Given the description of an element on the screen output the (x, y) to click on. 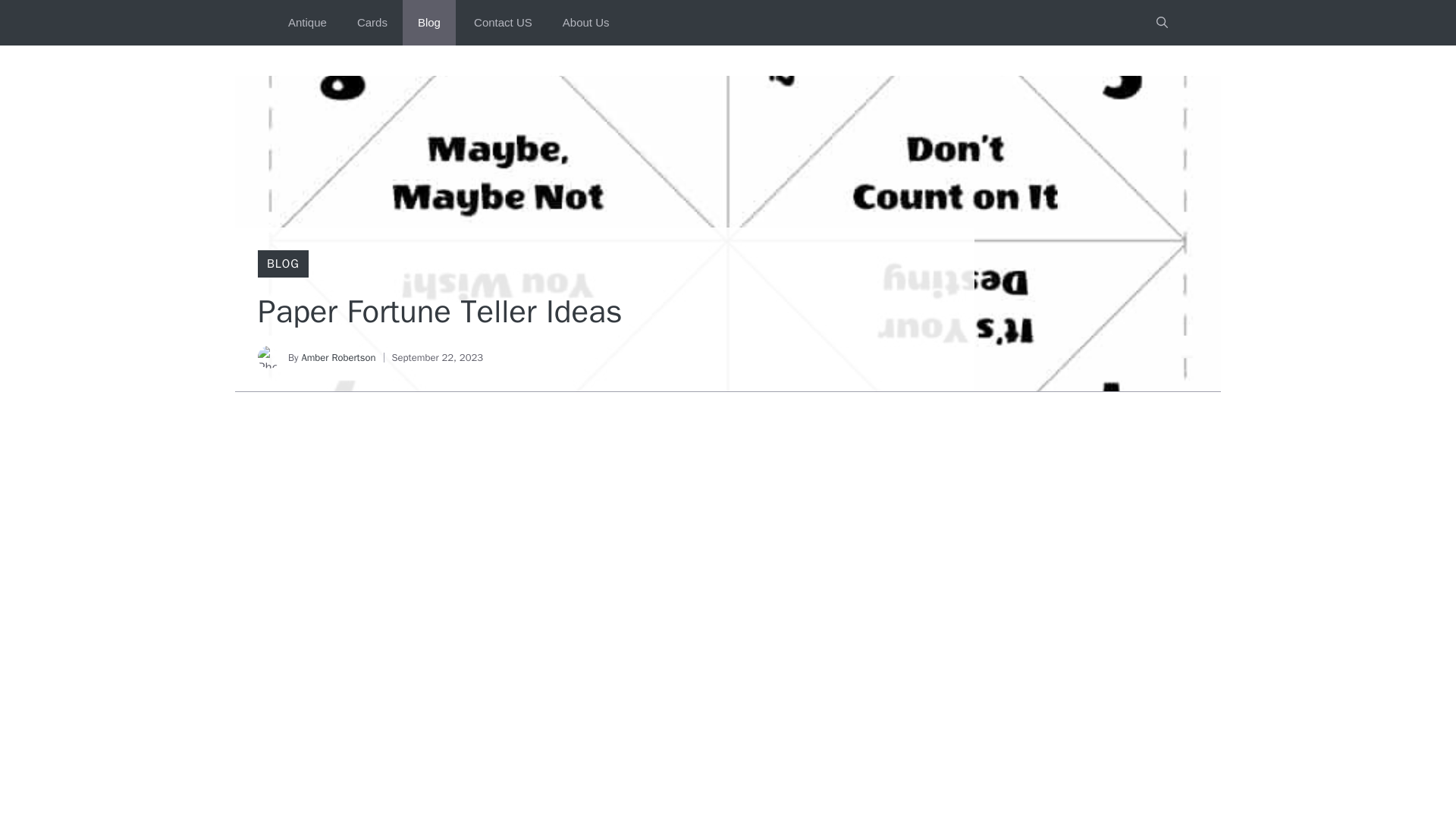
BLOG (282, 263)
 Contact US (501, 22)
Blog (429, 22)
Amber Robertson (338, 357)
About Us (585, 22)
Antique (307, 22)
Cards (372, 22)
